Given the description of an element on the screen output the (x, y) to click on. 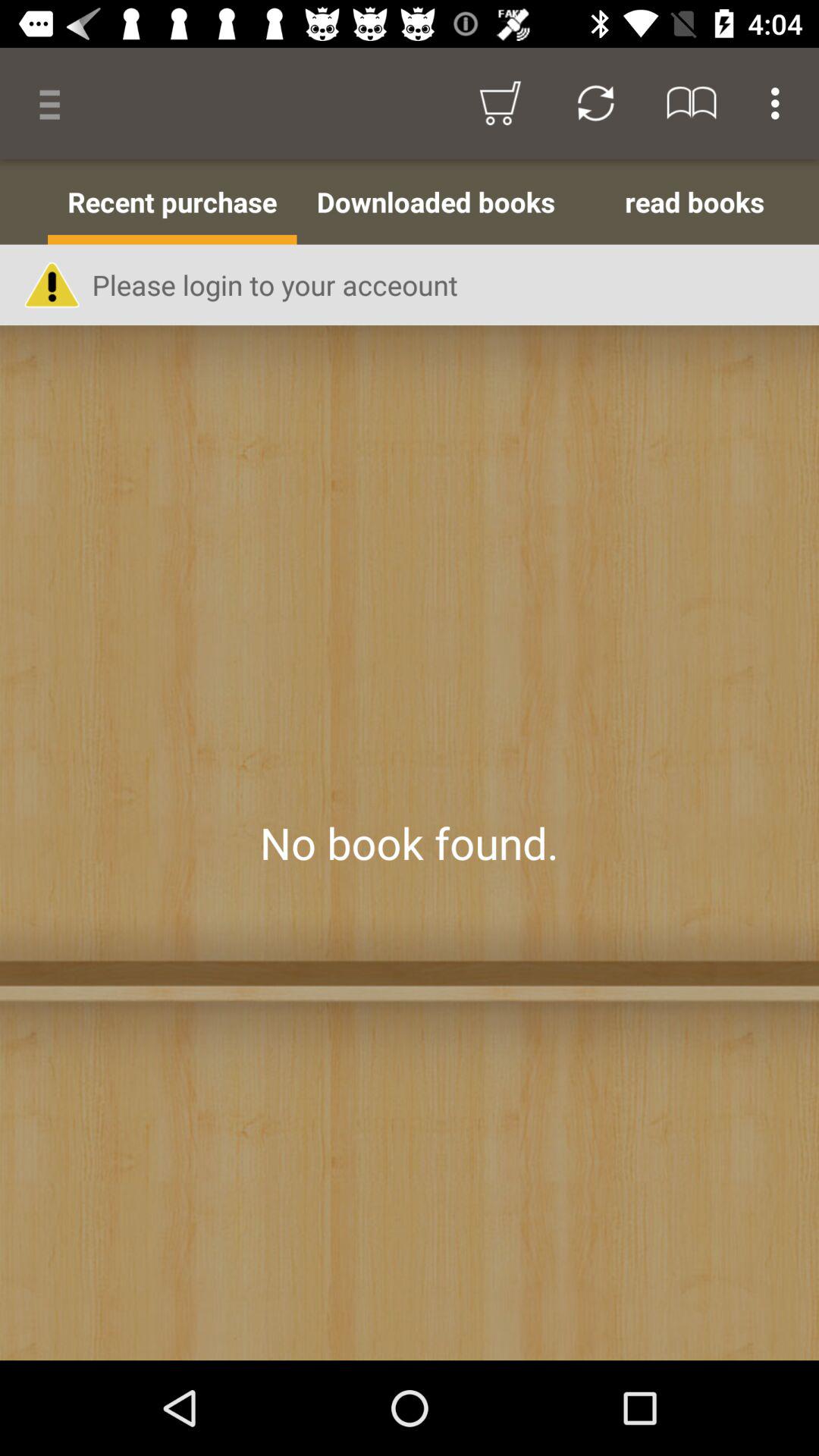
turn off the read books item (694, 201)
